Given the description of an element on the screen output the (x, y) to click on. 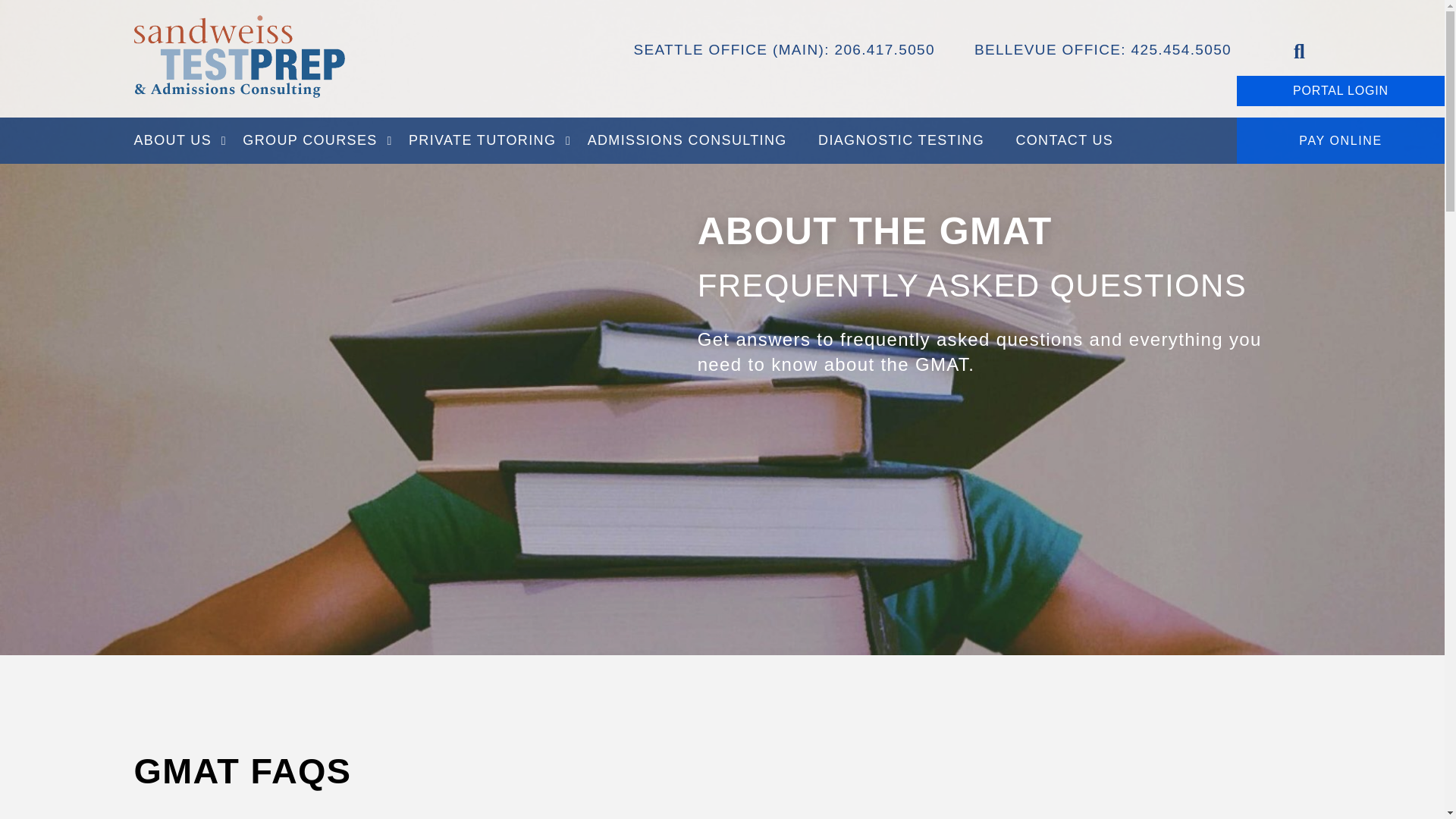
ABOUT US (180, 140)
GROUP COURSES (309, 140)
ADMISSIONS CONSULTING (687, 140)
PRIVATE TUTORING (481, 140)
425.454.5050 (1181, 49)
206.417.5050 (884, 49)
DIAGNOSTIC TESTING (900, 140)
CONTACT US (1064, 140)
